Given the description of an element on the screen output the (x, y) to click on. 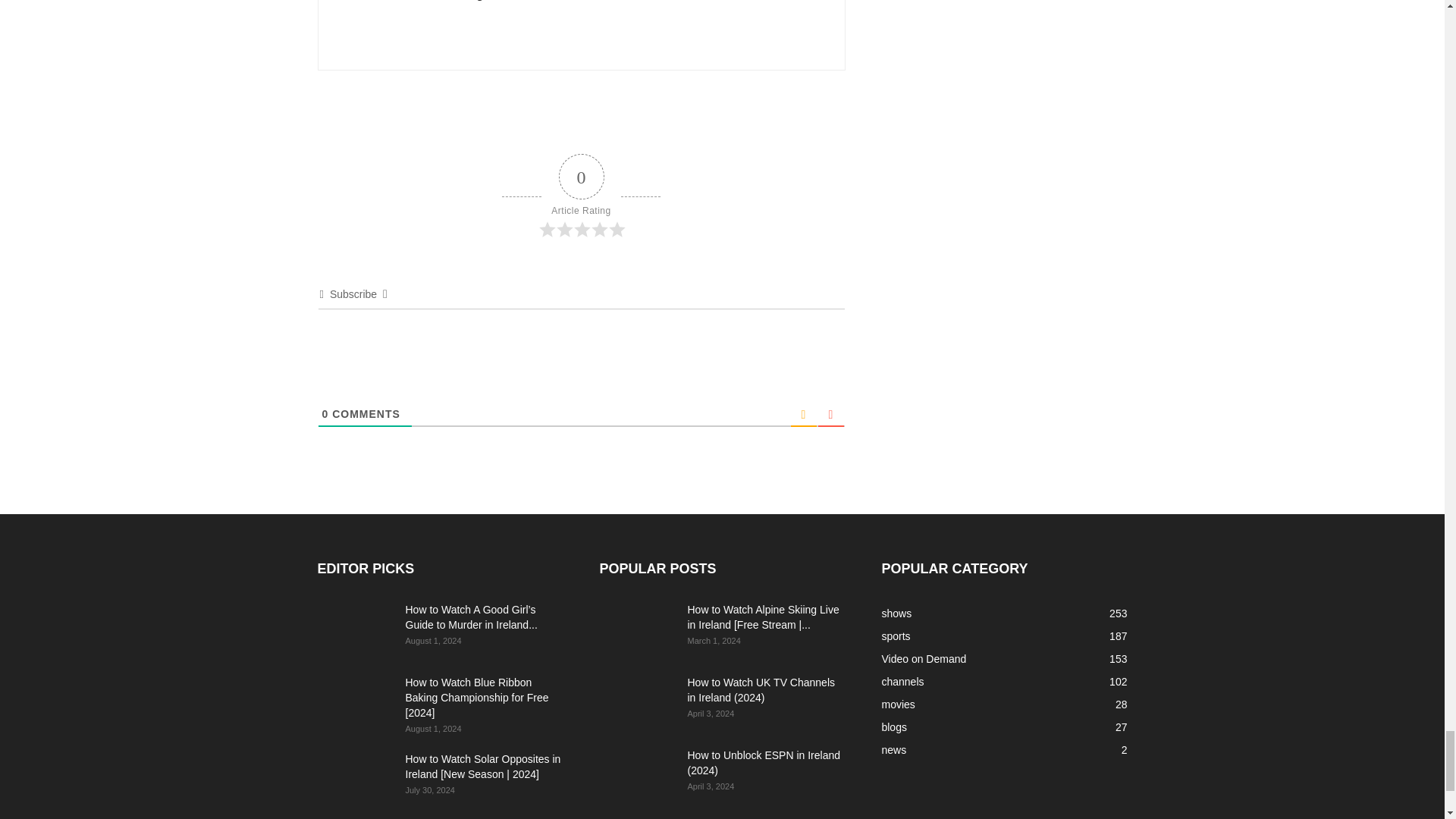
Kevin Kruger (369, 27)
